Given the description of an element on the screen output the (x, y) to click on. 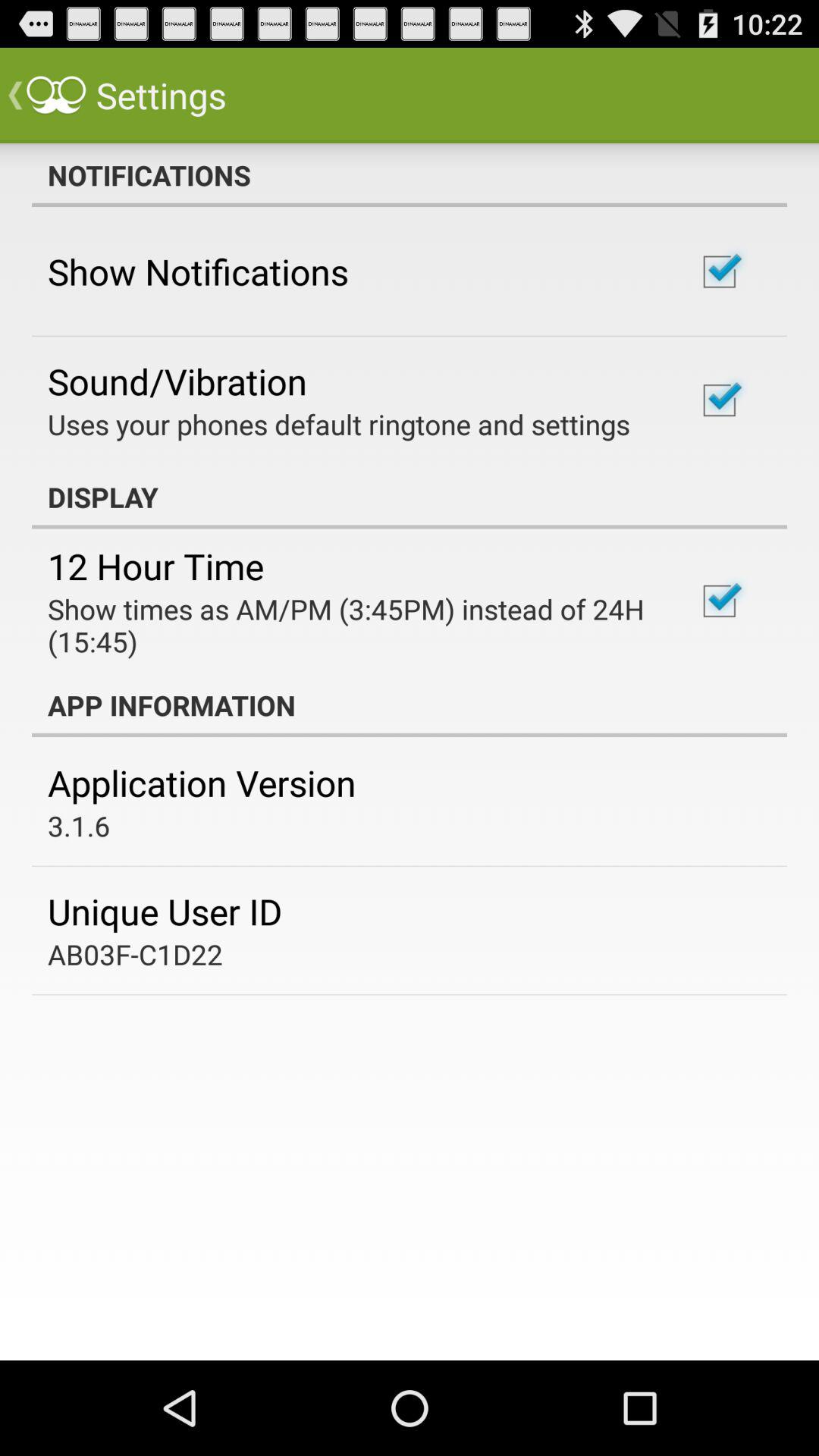
flip to the application version icon (201, 782)
